Given the description of an element on the screen output the (x, y) to click on. 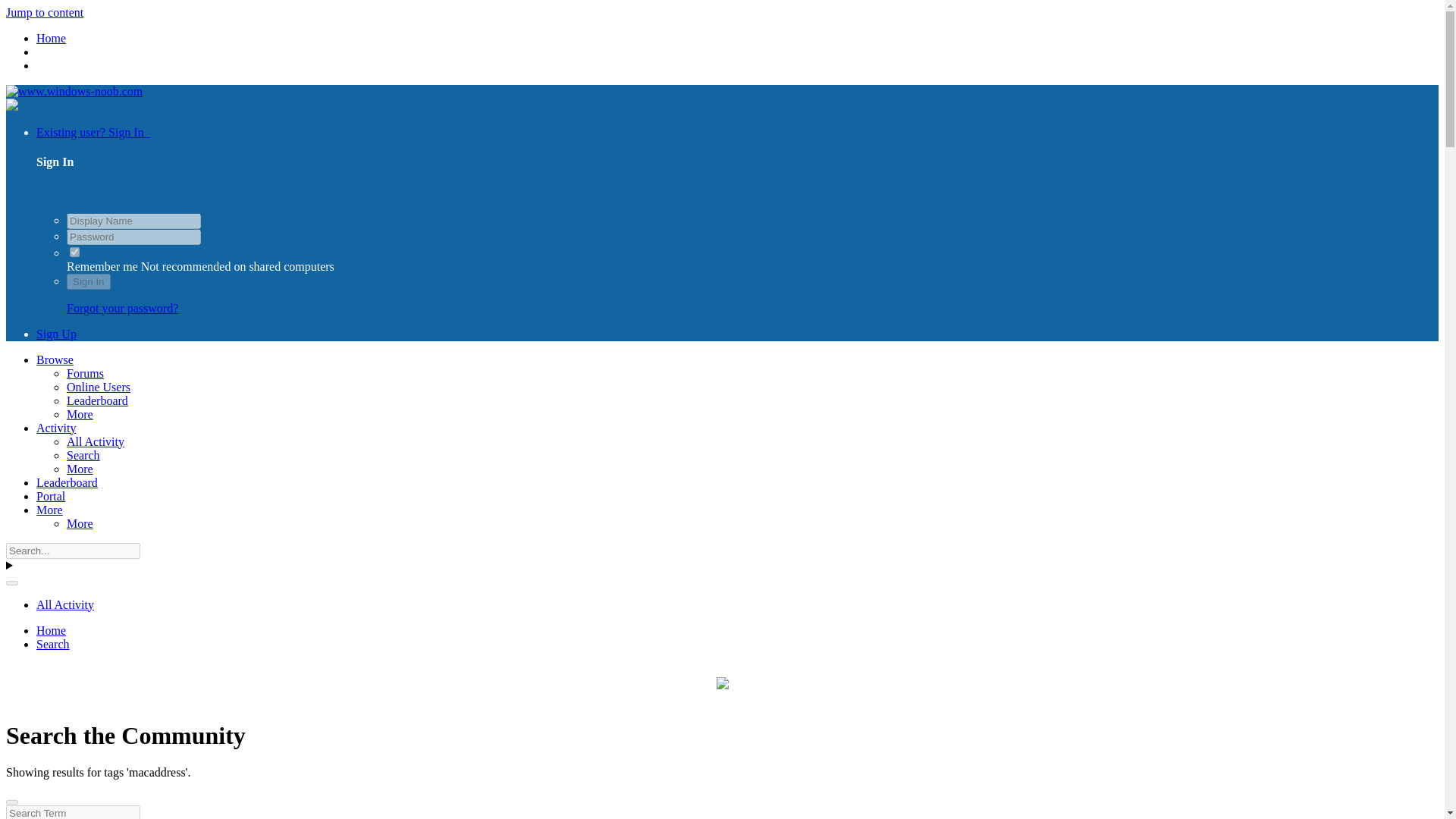
Existing user? Sign In   (92, 132)
Forums (84, 373)
All Activity (94, 440)
Jump to content (43, 11)
Home (50, 38)
Activity (55, 427)
Home (50, 630)
All Activity (65, 604)
Search (52, 644)
More (79, 522)
